Given the description of an element on the screen output the (x, y) to click on. 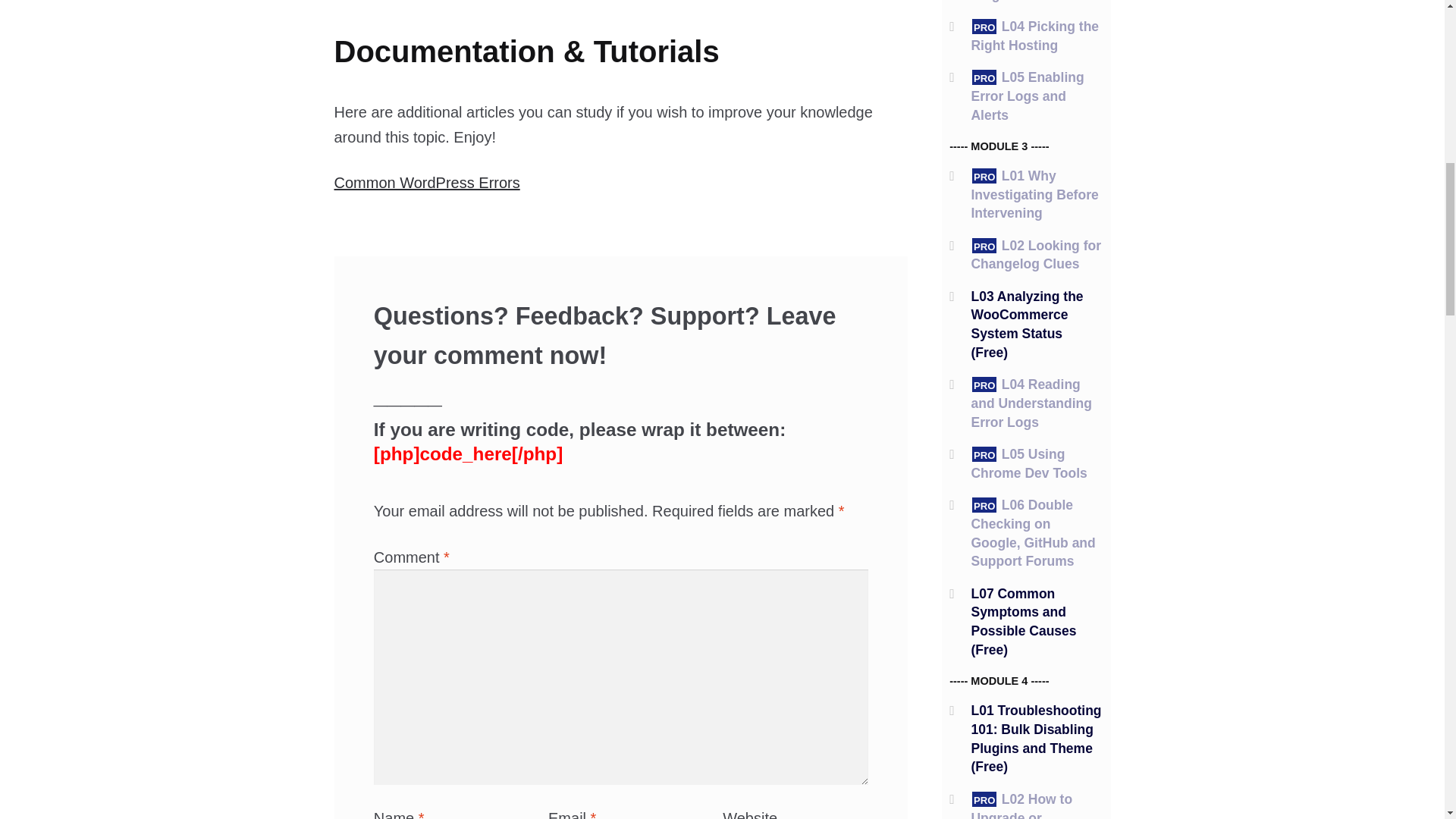
Common WordPress Errors (426, 182)
